Given the description of an element on the screen output the (x, y) to click on. 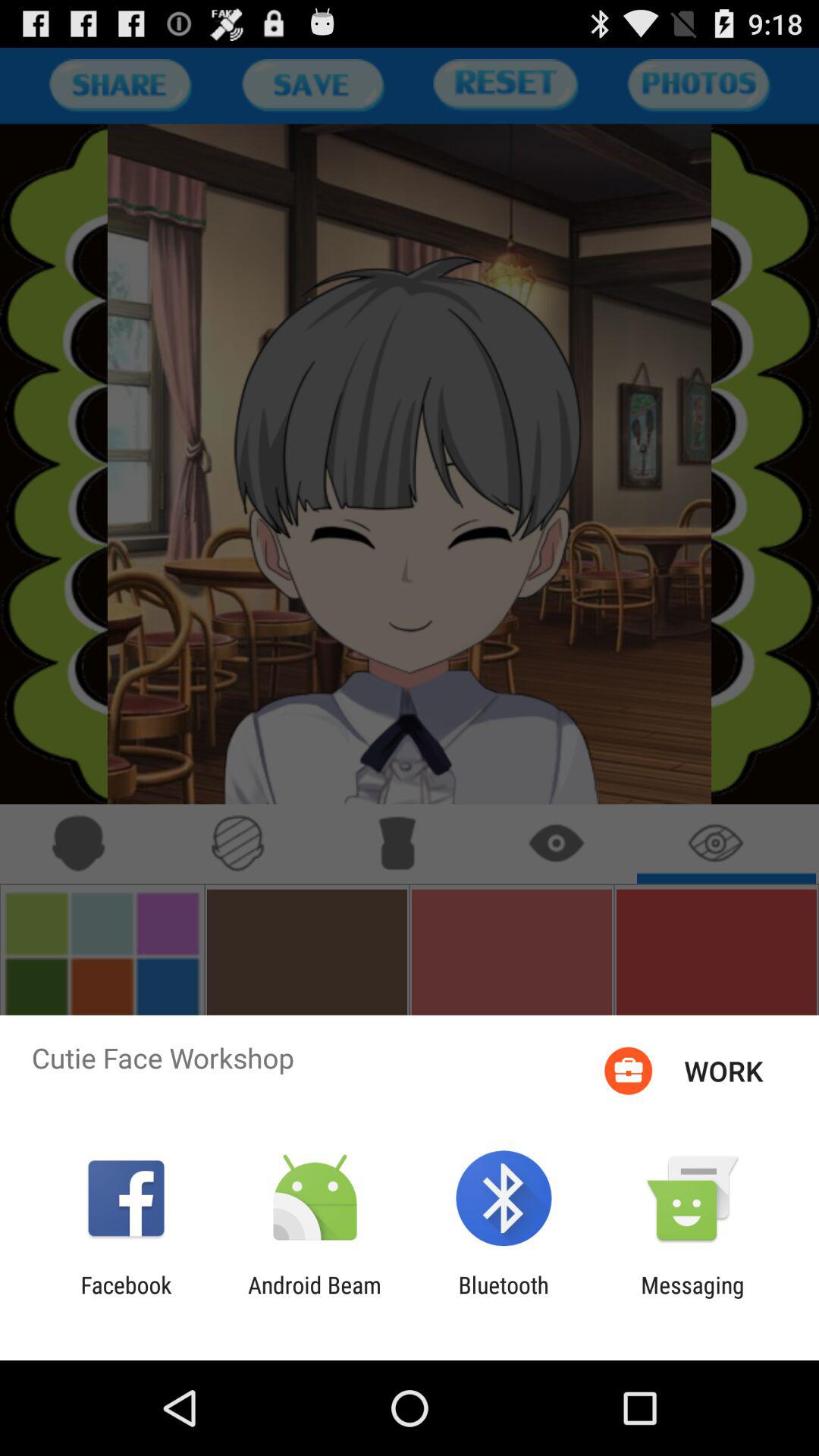
swipe to the messaging icon (692, 1298)
